Given the description of an element on the screen output the (x, y) to click on. 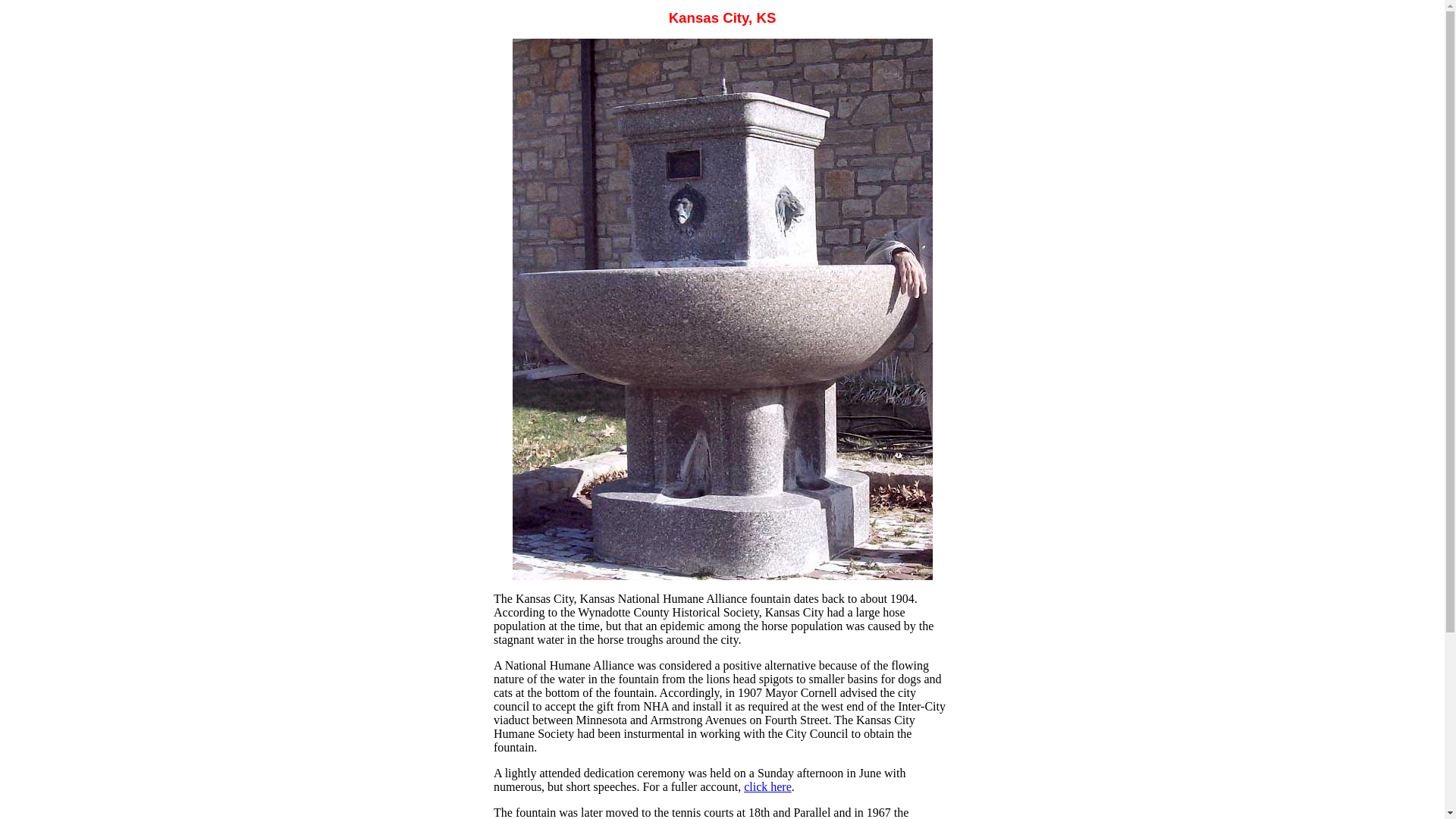
click here (768, 786)
